Given the description of an element on the screen output the (x, y) to click on. 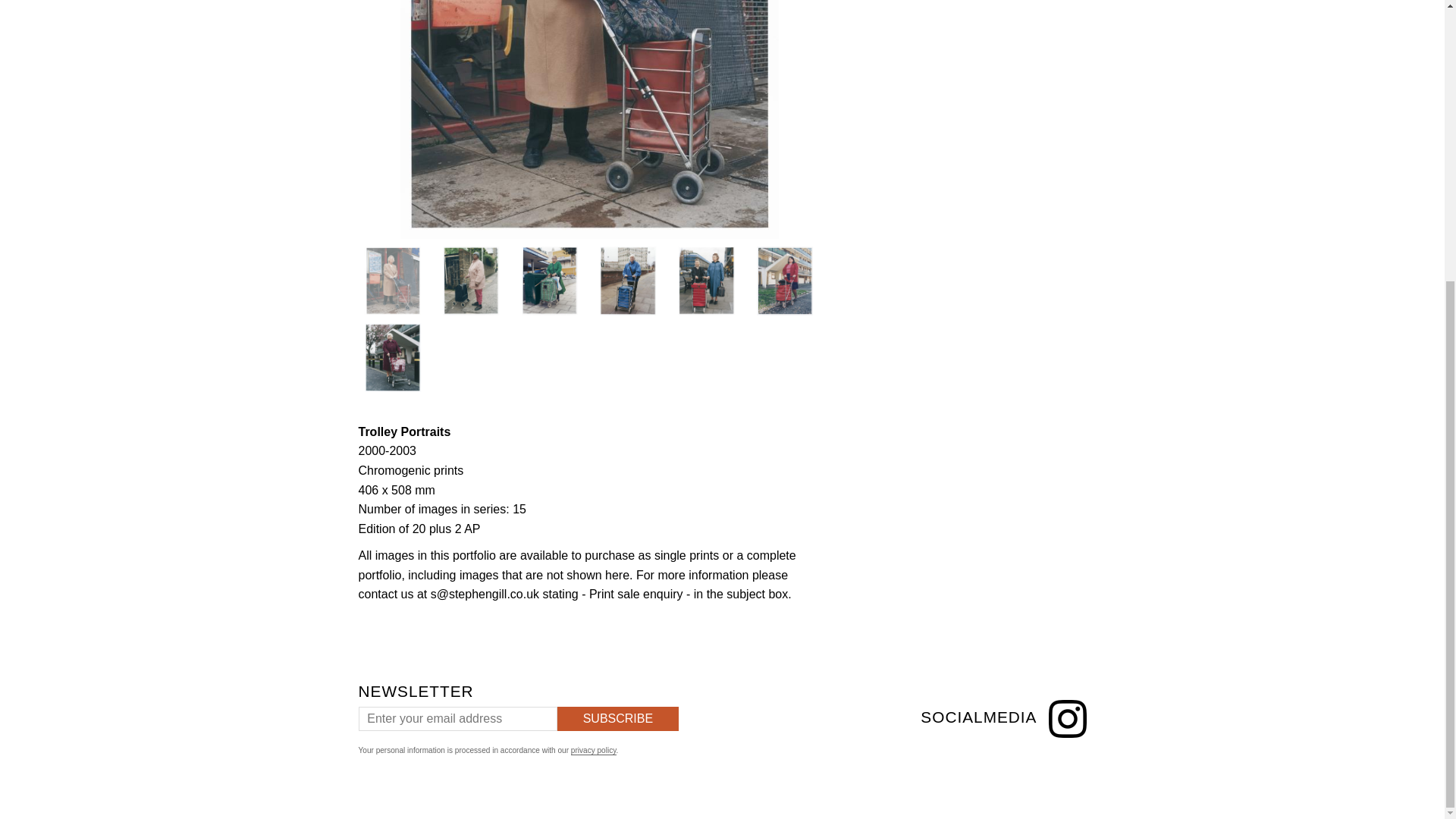
privacy policy (592, 750)
SUBSCRIBE (617, 718)
